Given the description of an element on the screen output the (x, y) to click on. 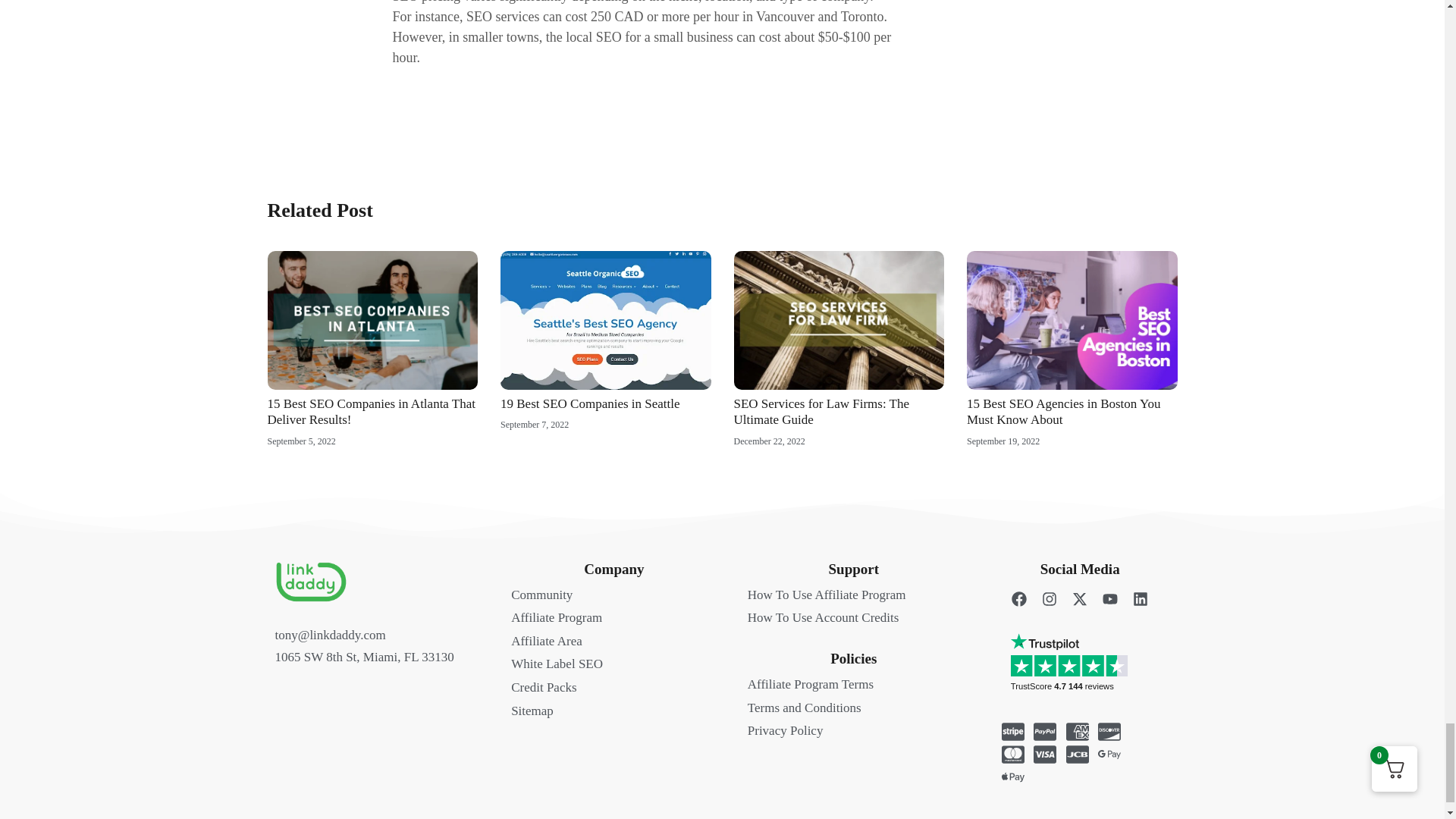
Customer reviews powered by Trustpilot (1088, 675)
